Given the description of an element on the screen output the (x, y) to click on. 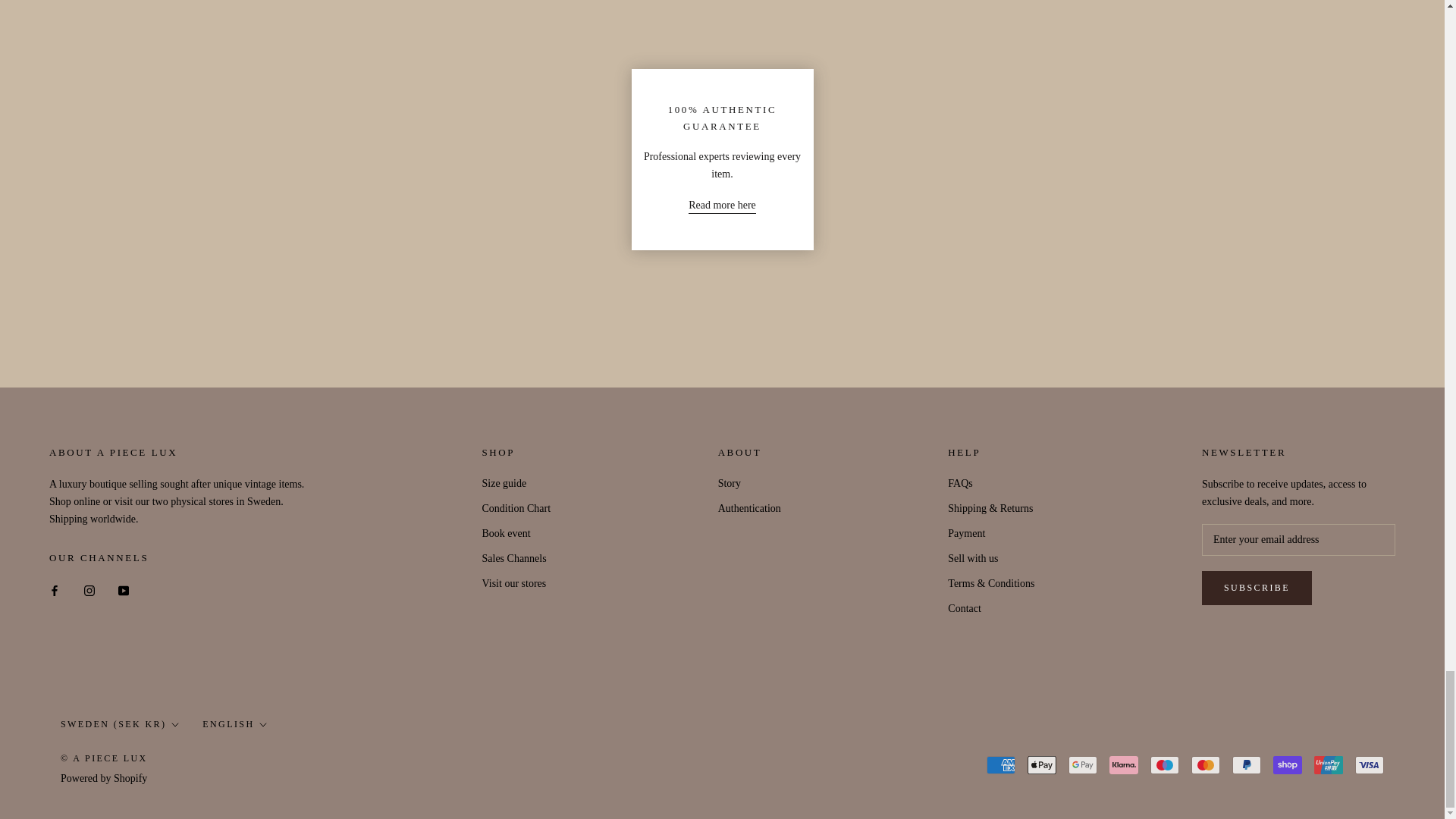
American Express (1000, 764)
Google Pay (1082, 764)
Klarna (1123, 764)
Apple Pay (1042, 764)
